Given the description of an element on the screen output the (x, y) to click on. 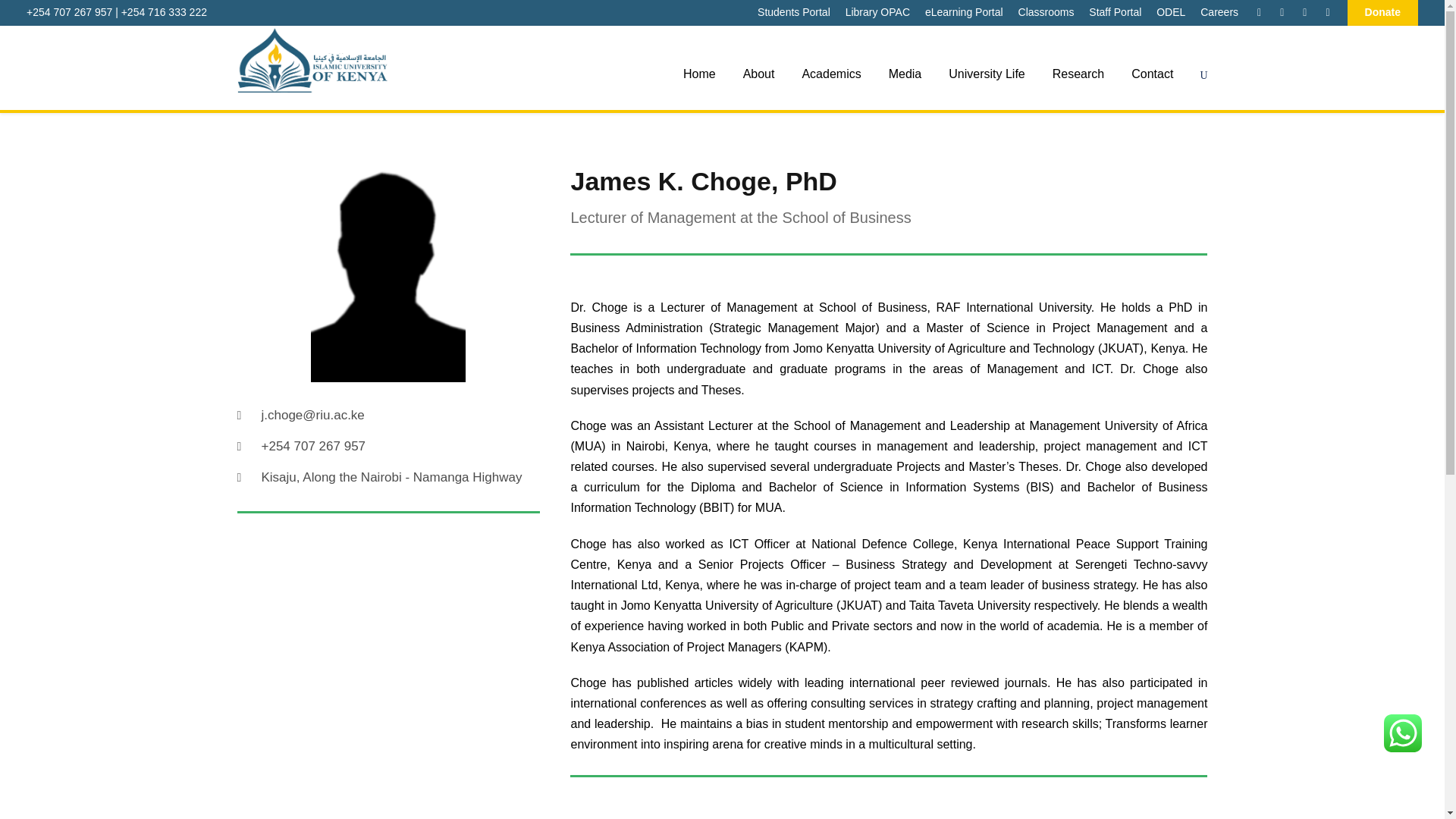
IUK-logo (312, 60)
